Given the description of an element on the screen output the (x, y) to click on. 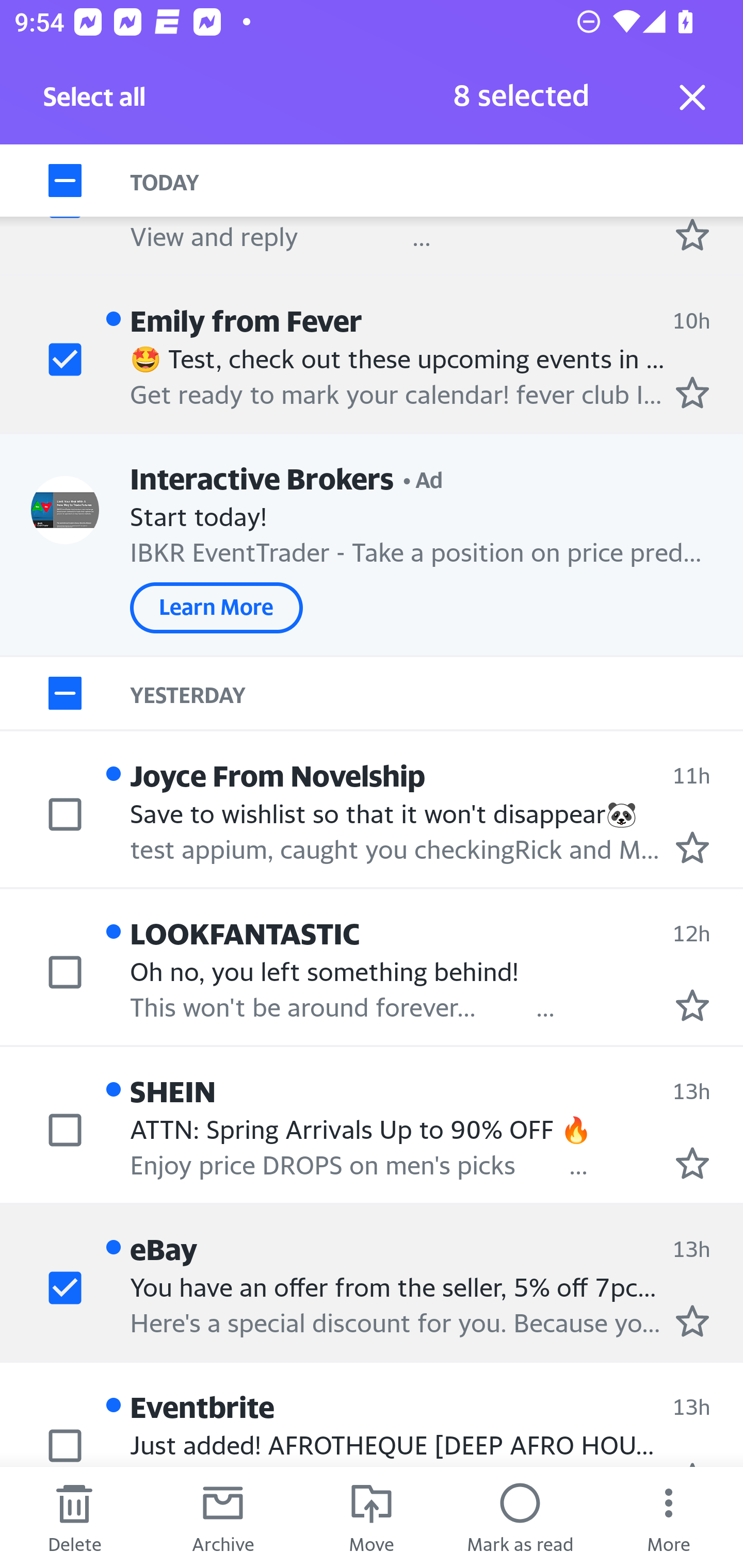
Exit selection mode (692, 97)
Select all (94, 101)
Mark as starred. (692, 234)
Mark as starred. (692, 392)
• Ad (422, 477)
YESTERDAY (436, 693)
Mark as starred. (692, 847)
Mark as starred. (692, 1005)
Mark as starred. (692, 1162)
Mark as starred. (692, 1321)
Delete (74, 1517)
Archive (222, 1517)
Move (371, 1517)
Mark as read (519, 1517)
More (668, 1517)
